Given the description of an element on the screen output the (x, y) to click on. 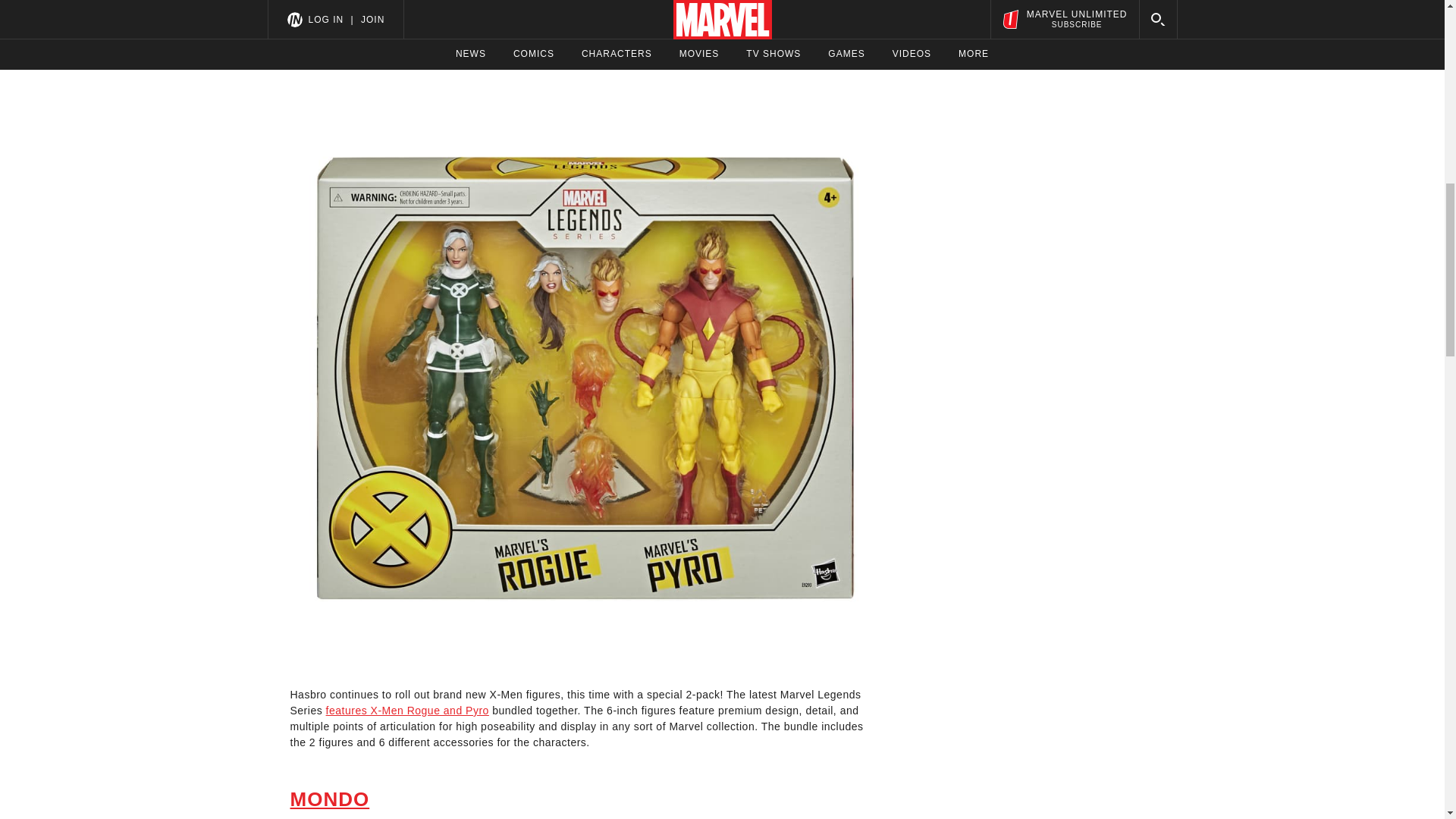
HASBRO (334, 39)
MONDO (329, 798)
features X-Men Rogue and Pyro (407, 710)
